Given the description of an element on the screen output the (x, y) to click on. 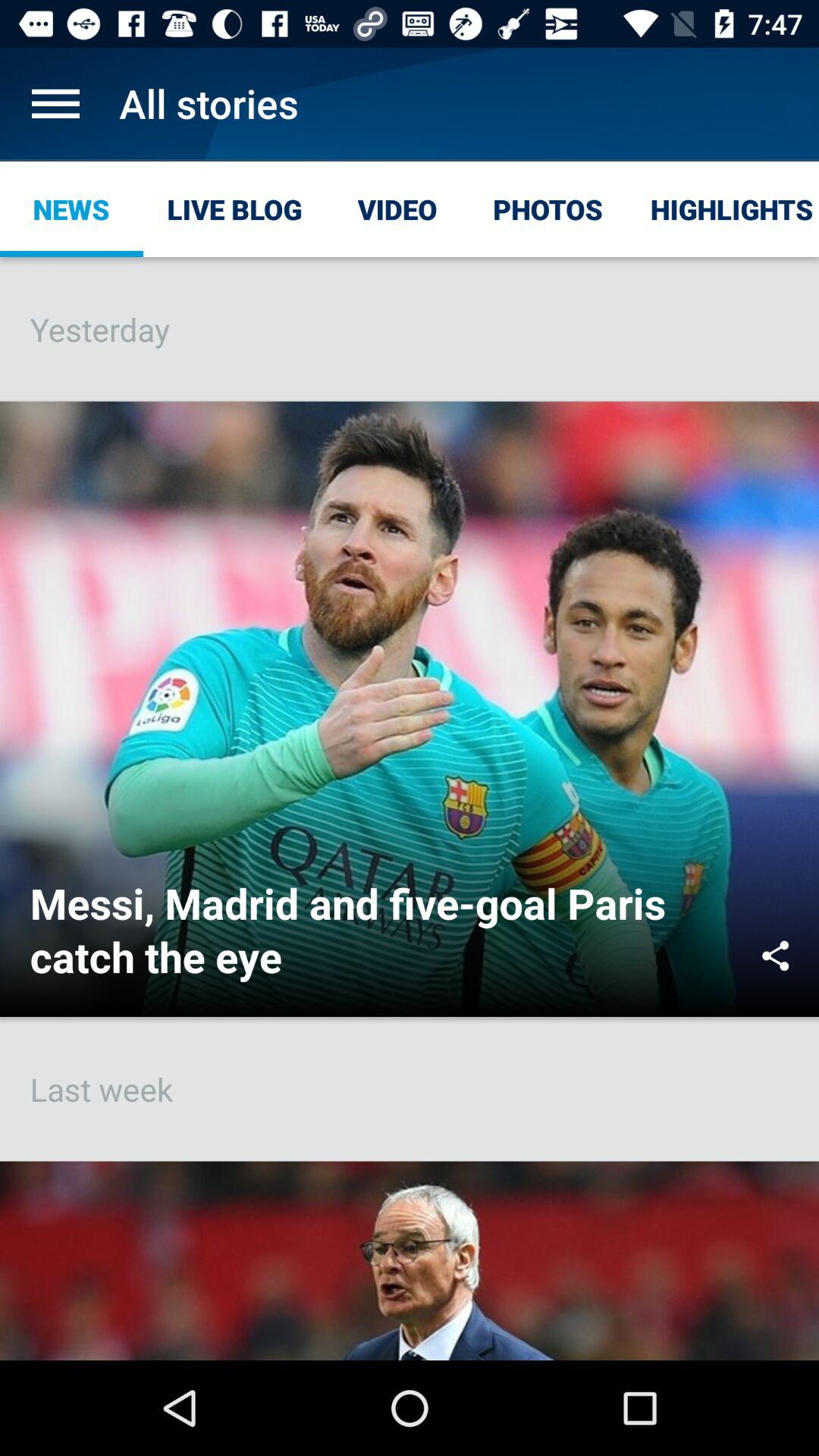
select icon above the last week item (775, 955)
